Given the description of an element on the screen output the (x, y) to click on. 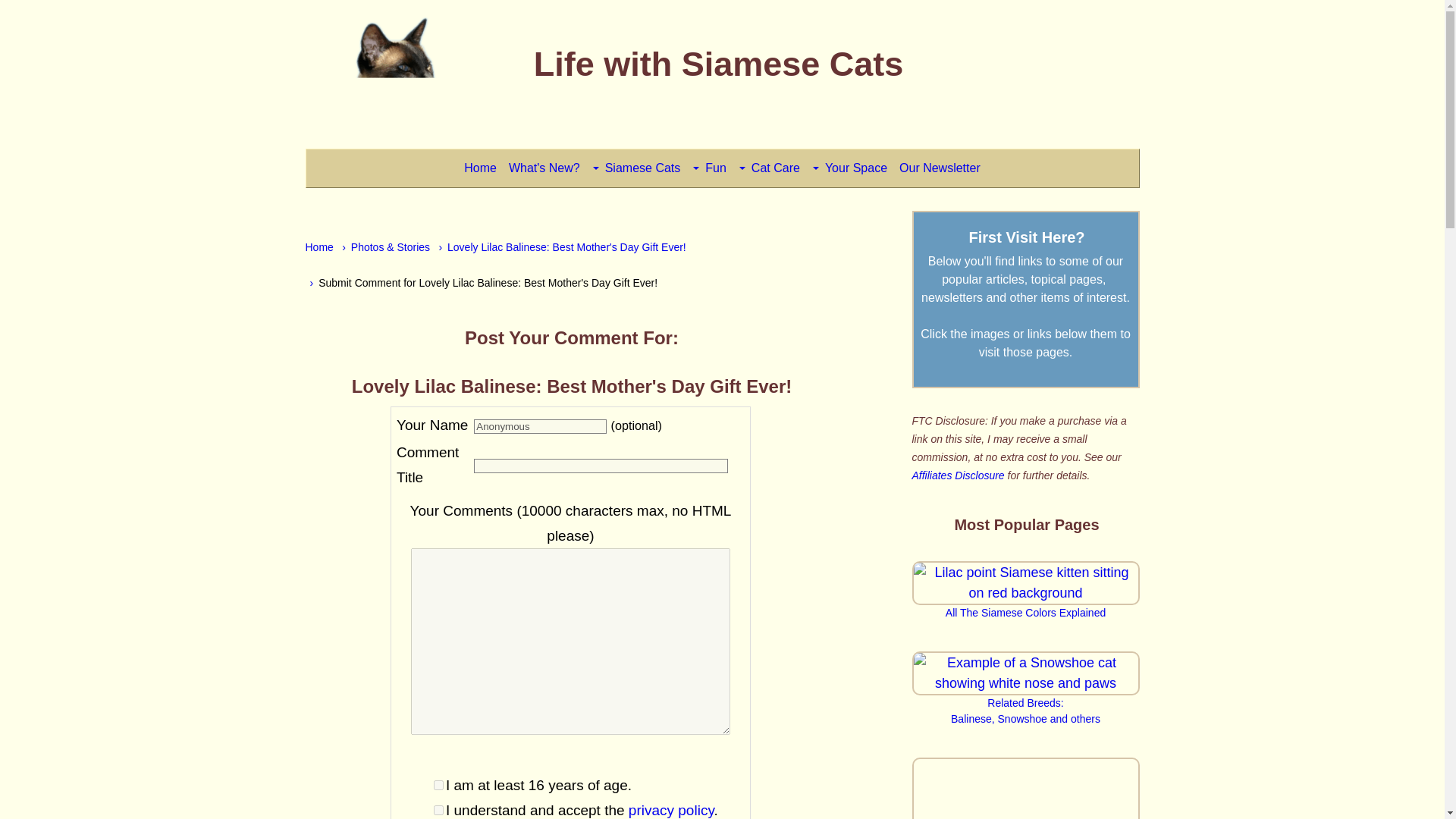
1 (438, 809)
The Siamese Colors (1024, 583)
1 (438, 785)
Home (480, 167)
Siamese Cat Books (1024, 788)
privacy policy (671, 810)
Anonymous (540, 426)
Go to Siamese Cat Colors (1024, 604)
Home (318, 246)
Life with Siamese Cats (1024, 703)
Go to Long-Haired Siamese Cats and Other Relatives (719, 64)
Our Newsletter (1024, 703)
Affiliates Disclosure (940, 167)
Related Breeds (957, 474)
